Given the description of an element on the screen output the (x, y) to click on. 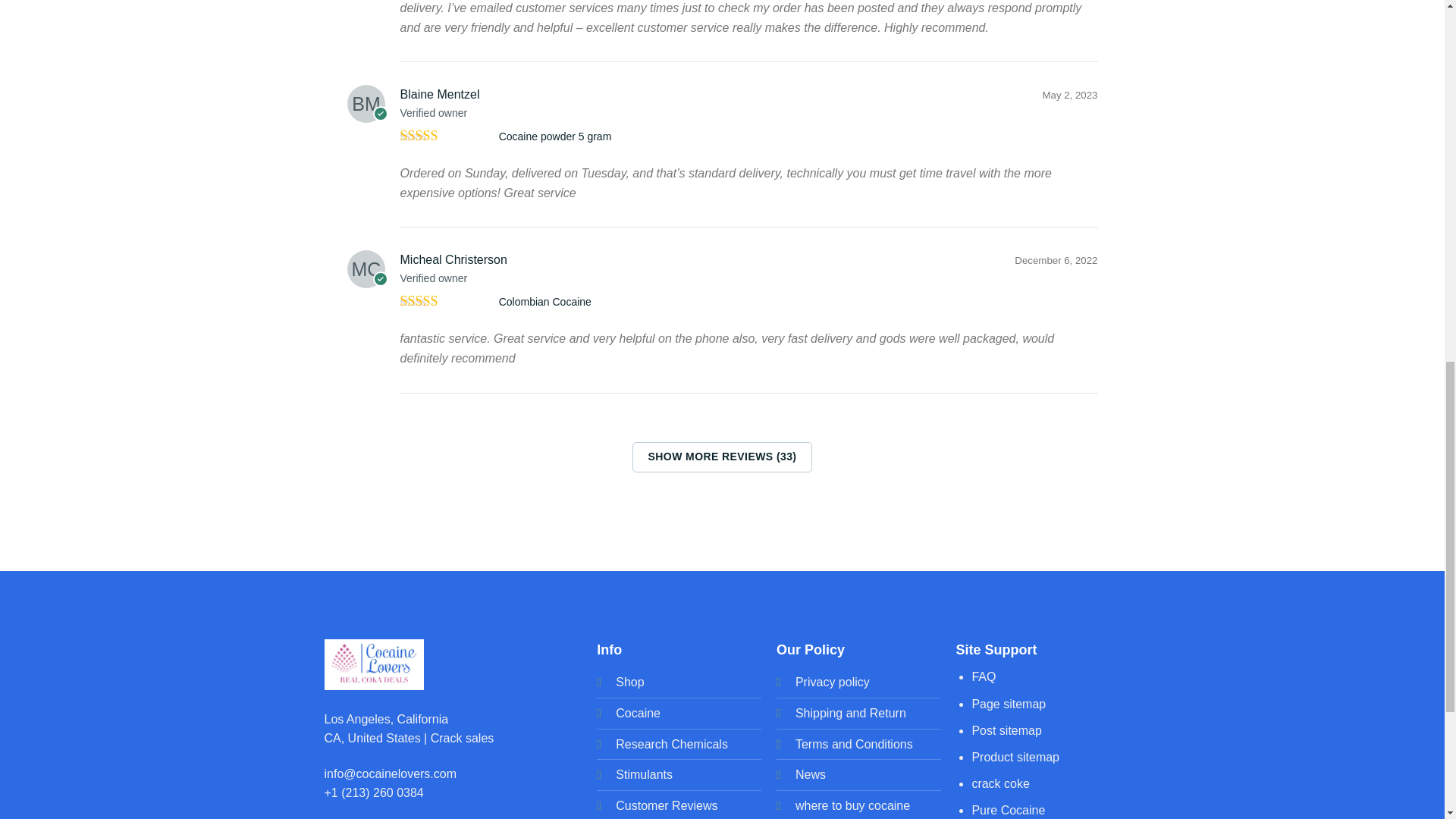
Stimulants (643, 774)
Shop (629, 681)
Research Chemicals (671, 744)
Crack sales (462, 738)
Cocaine powder 5 gram (555, 135)
Colombian Cocaine (545, 301)
Cocaine powder 5 gram (555, 135)
Cocaine (638, 712)
Colombian Cocaine (545, 301)
